Given the description of an element on the screen output the (x, y) to click on. 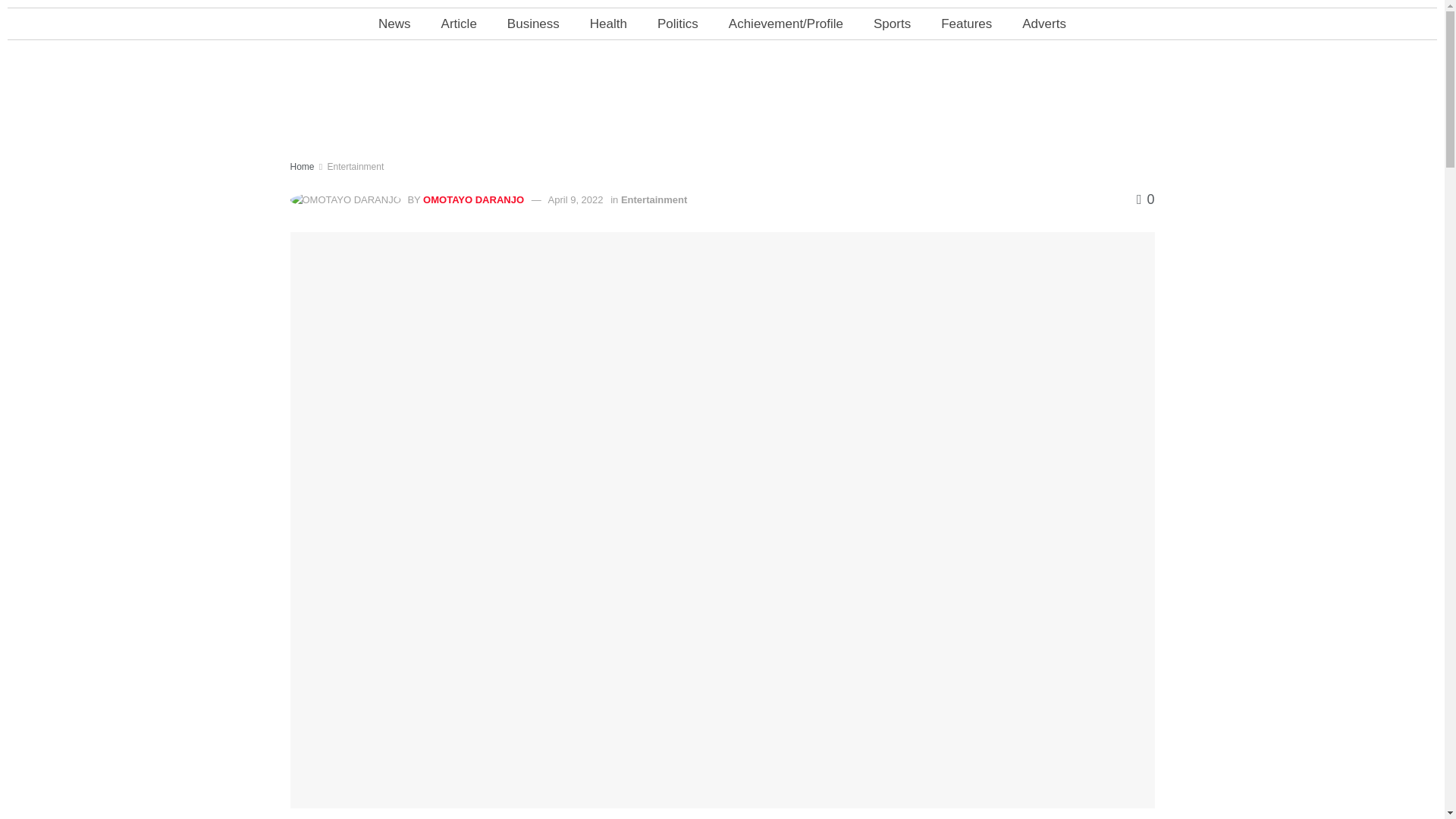
Sports (892, 23)
Features (966, 23)
Article (459, 23)
News (394, 23)
OMOTAYO DARANJO (473, 199)
Adverts (1044, 23)
April 9, 2022 (576, 199)
Politics (677, 23)
Home (301, 166)
Health (608, 23)
